Given the description of an element on the screen output the (x, y) to click on. 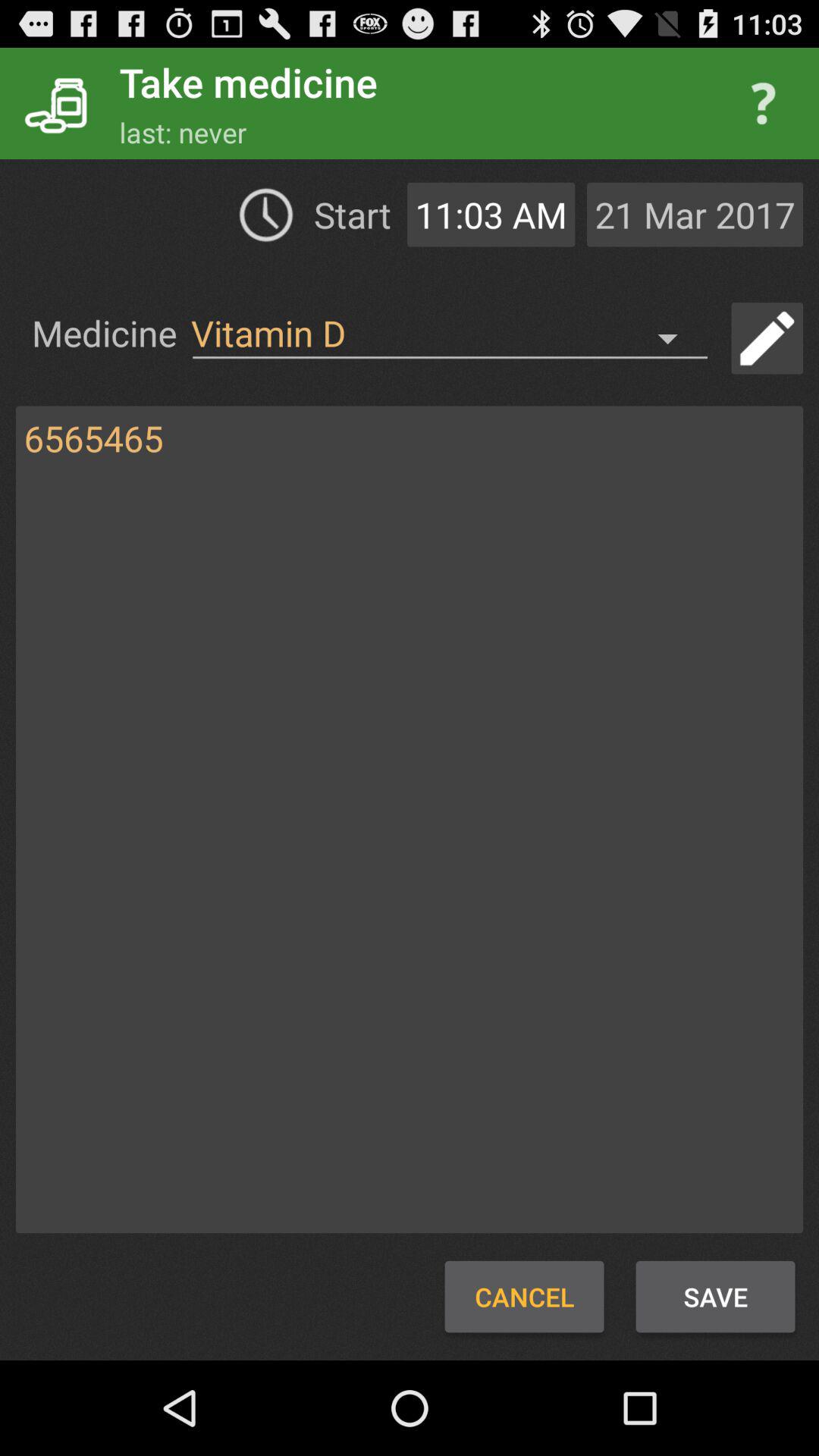
edit name (767, 338)
